Given the description of an element on the screen output the (x, y) to click on. 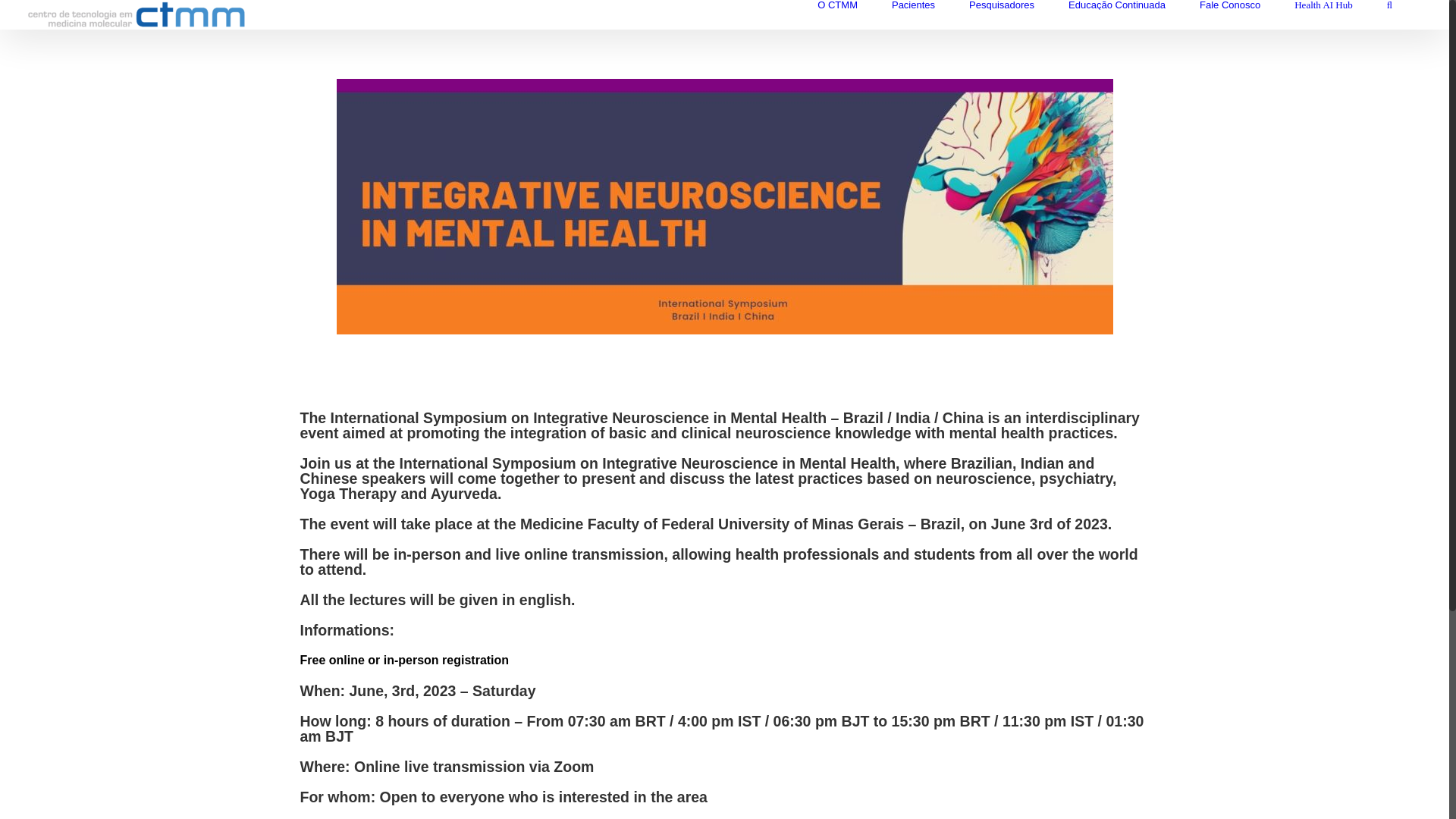
Fale Conosco (1229, 4)
Pacientes (912, 4)
O CTMM (836, 4)
Pesquisadores (1001, 4)
Health AI Hub (1323, 4)
